Given the description of an element on the screen output the (x, y) to click on. 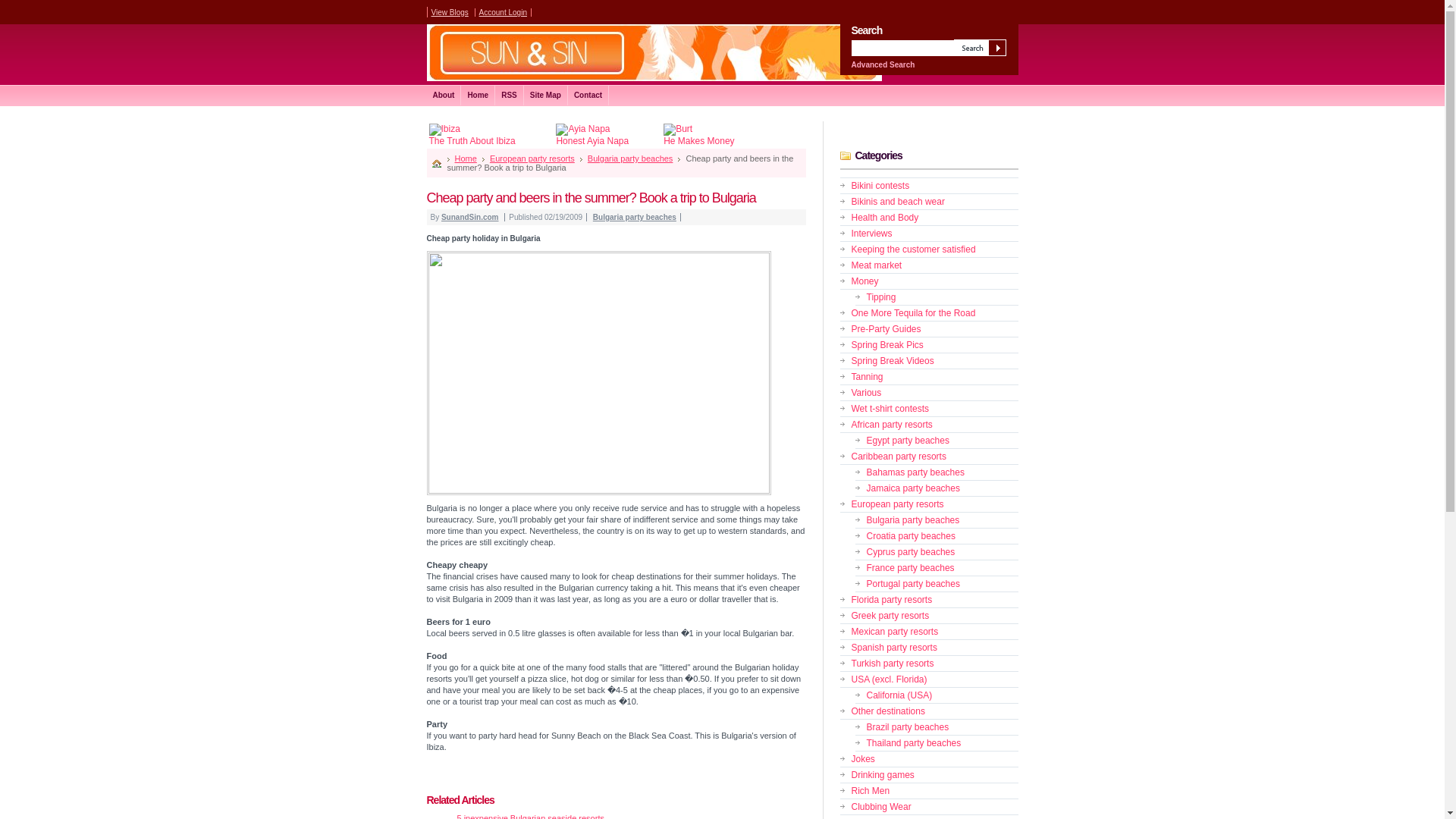
RSS (509, 95)
Site Map (545, 95)
Bulgaria party beaches (634, 216)
Search (979, 47)
View Blogs (448, 12)
SunandSin.com (470, 216)
The Truth About Ibiza (472, 134)
Contact (587, 95)
Honest Ayia Napa (592, 134)
Account Login (503, 12)
